Given the description of an element on the screen output the (x, y) to click on. 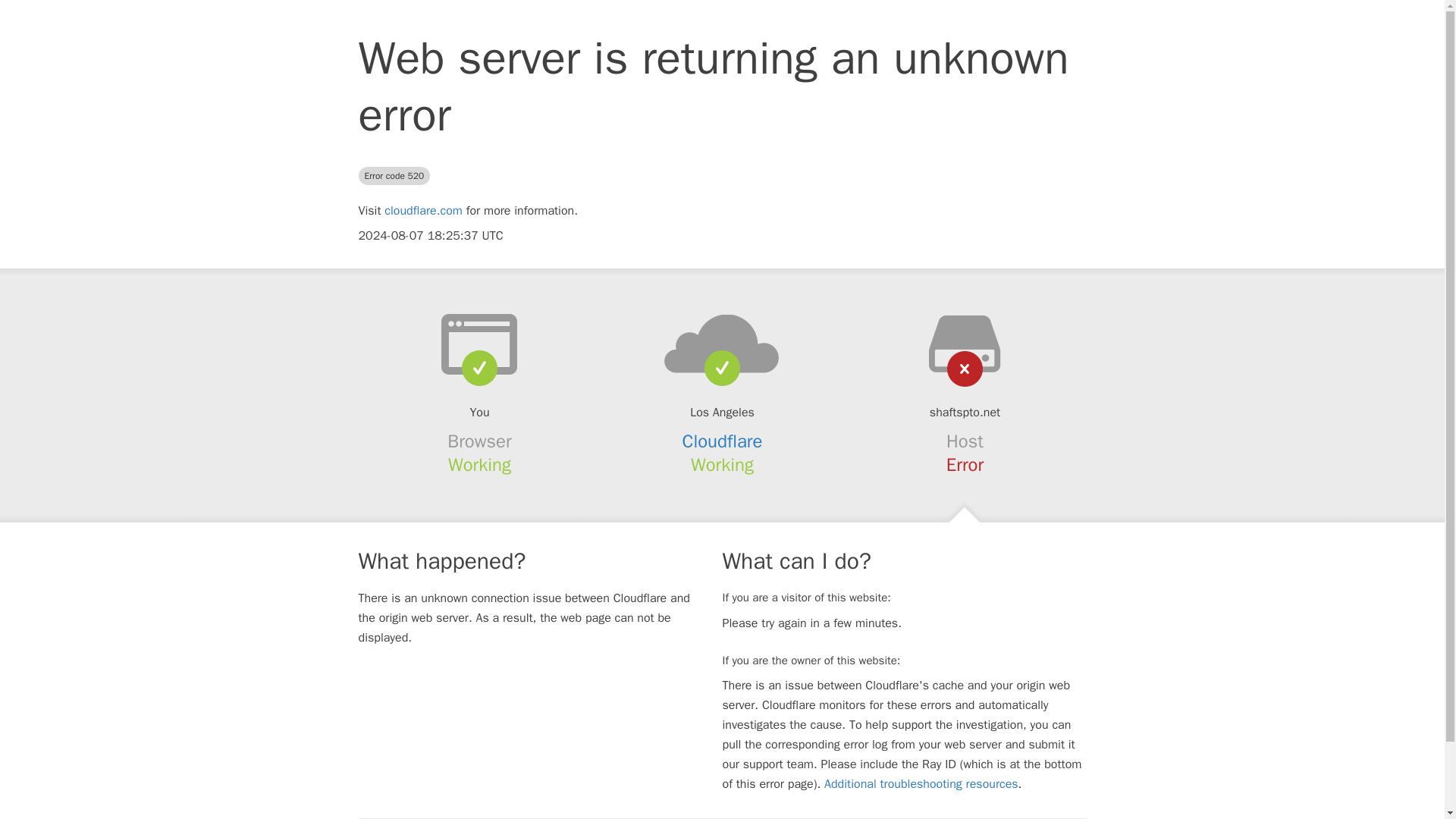
cloudflare.com (423, 210)
Cloudflare (722, 440)
Additional troubleshooting resources (920, 783)
